Given the description of an element on the screen output the (x, y) to click on. 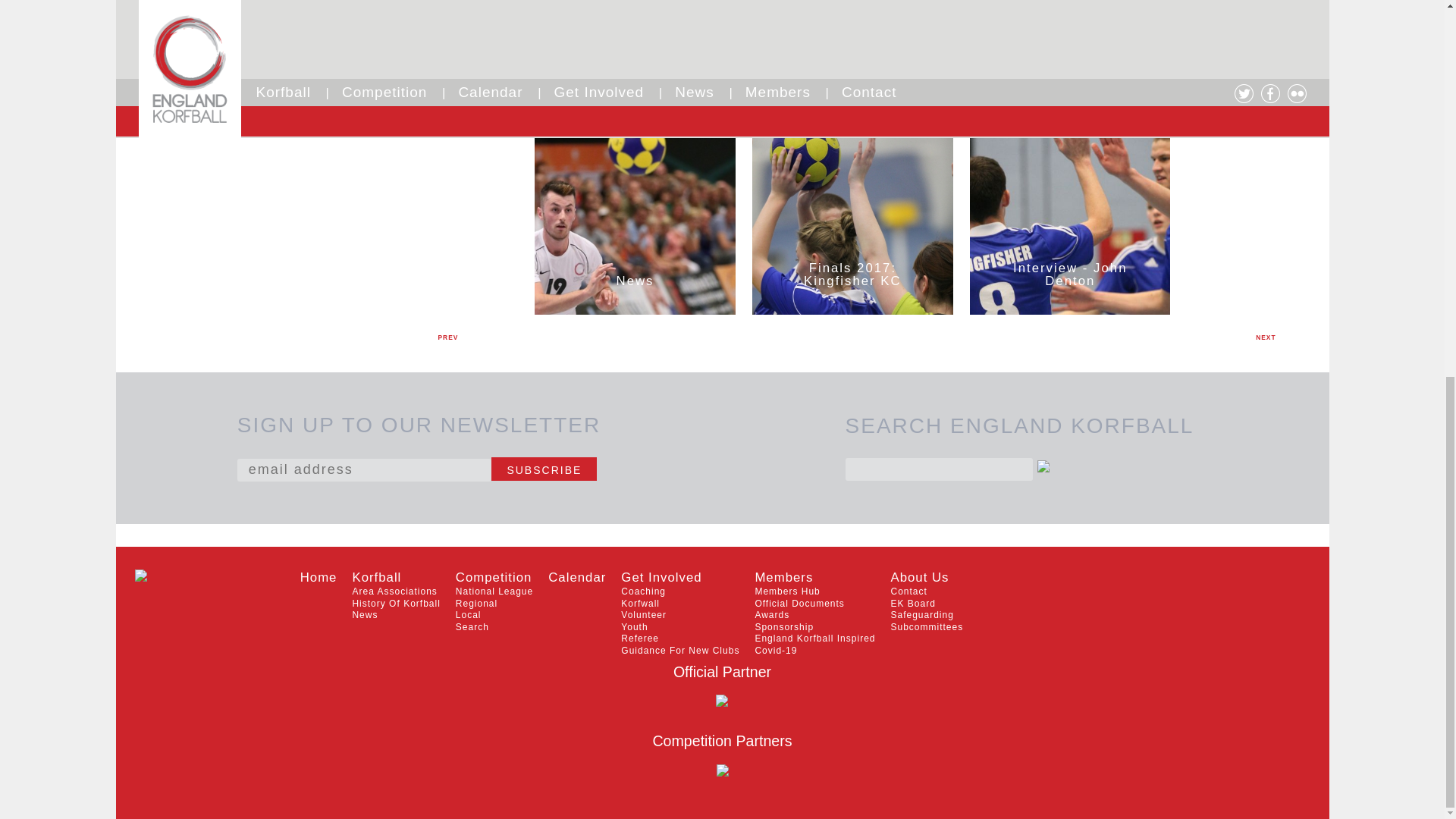
PREV (447, 337)
Subscribe (544, 468)
News (364, 614)
History Of Korfball (395, 603)
Regional (476, 603)
Area Associations (394, 591)
NEXT (1264, 337)
Subscribe (544, 468)
Home (318, 577)
Local (468, 614)
